Given the description of an element on the screen output the (x, y) to click on. 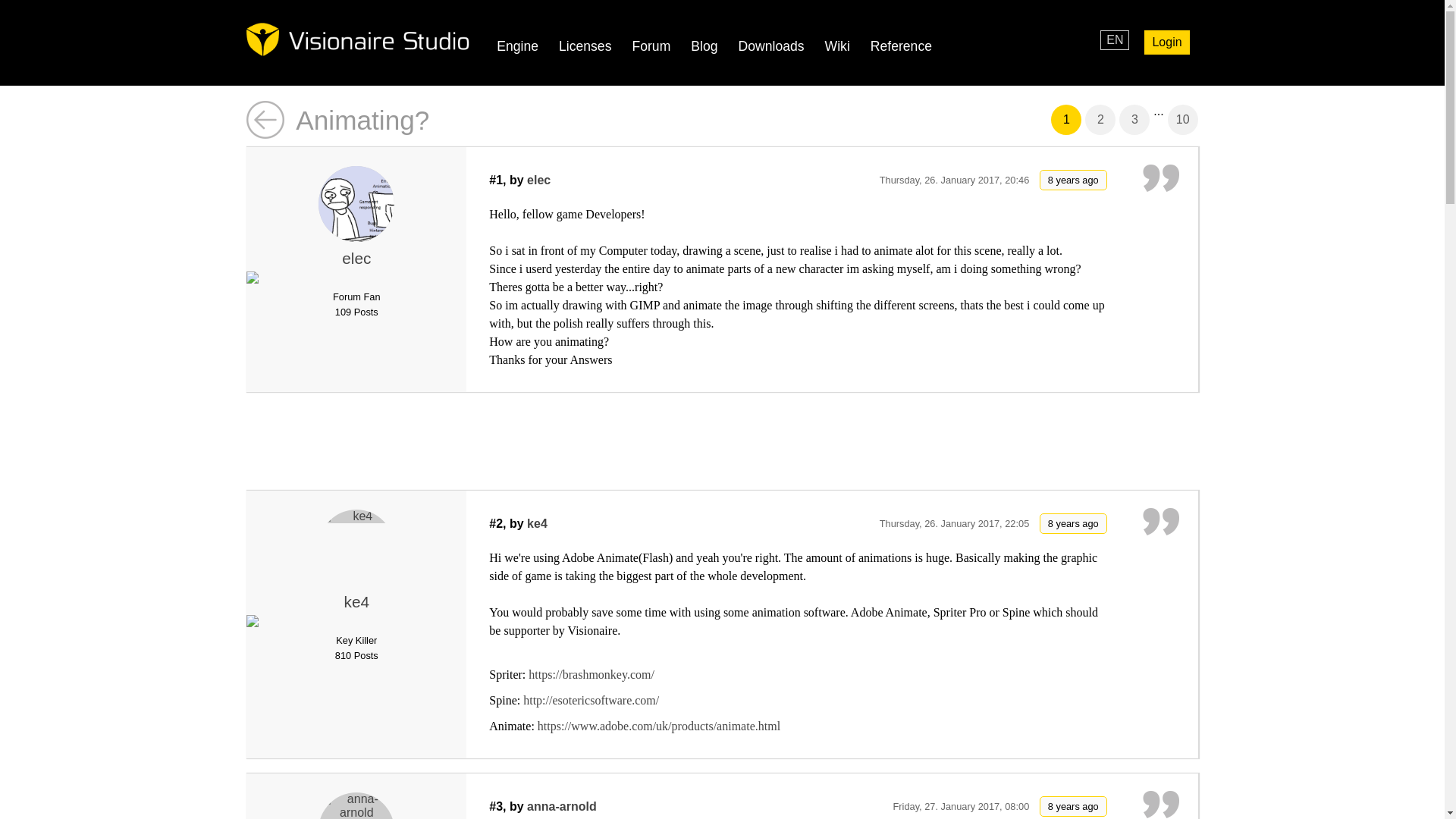
3 (1134, 119)
elec (356, 257)
elec (356, 203)
Reference (900, 46)
Visionaire Studio (357, 39)
ke4 (537, 522)
Engine (517, 46)
anna-arnold (356, 805)
Login (1166, 42)
anna-arnold (561, 806)
